Given the description of an element on the screen output the (x, y) to click on. 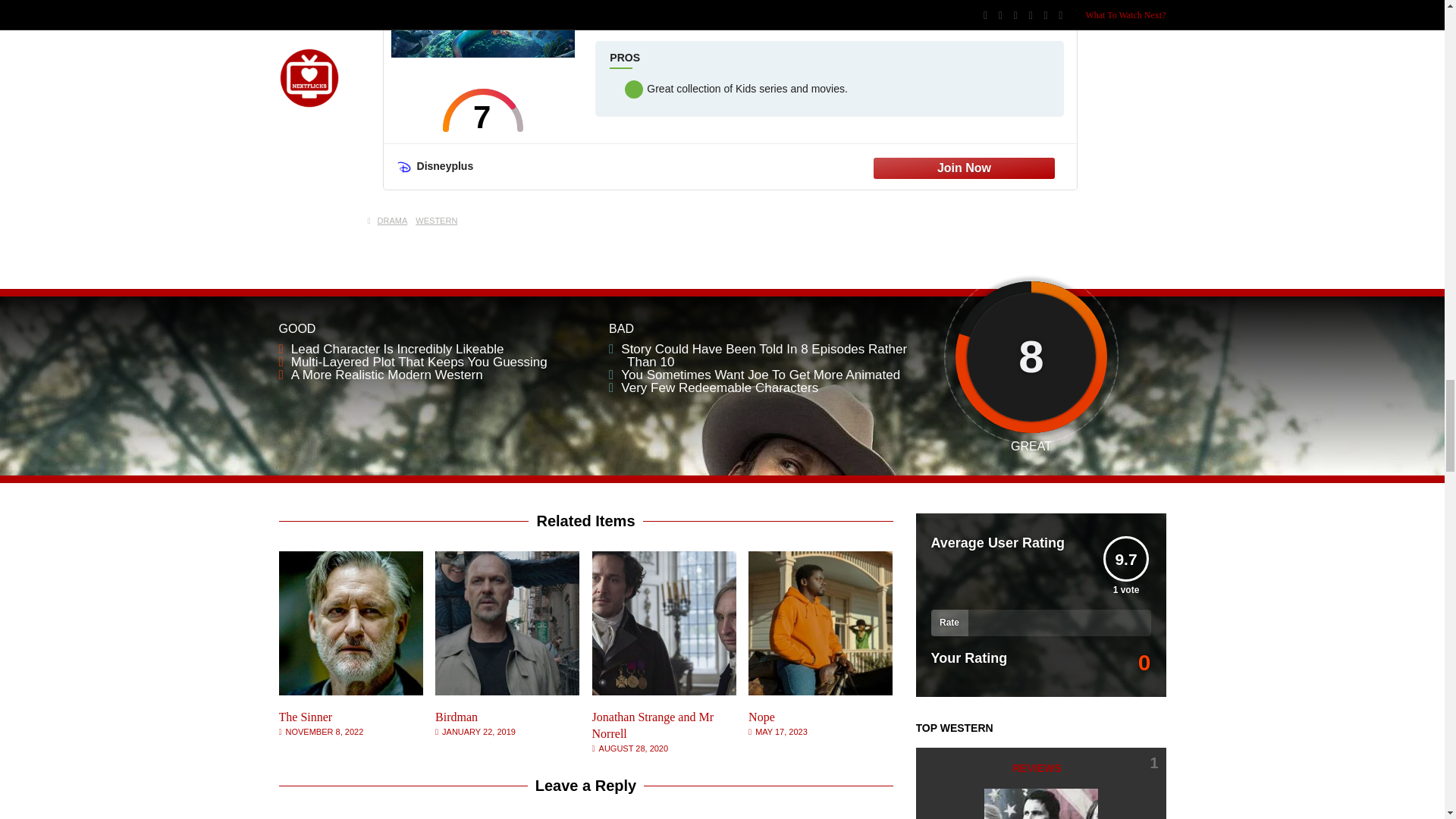
The Sinner (351, 690)
The Sinner (306, 716)
Birdman (456, 716)
7 (483, 109)
Jonathan Strange and Mr Norrell (664, 690)
Birdman (507, 690)
